Given the description of an element on the screen output the (x, y) to click on. 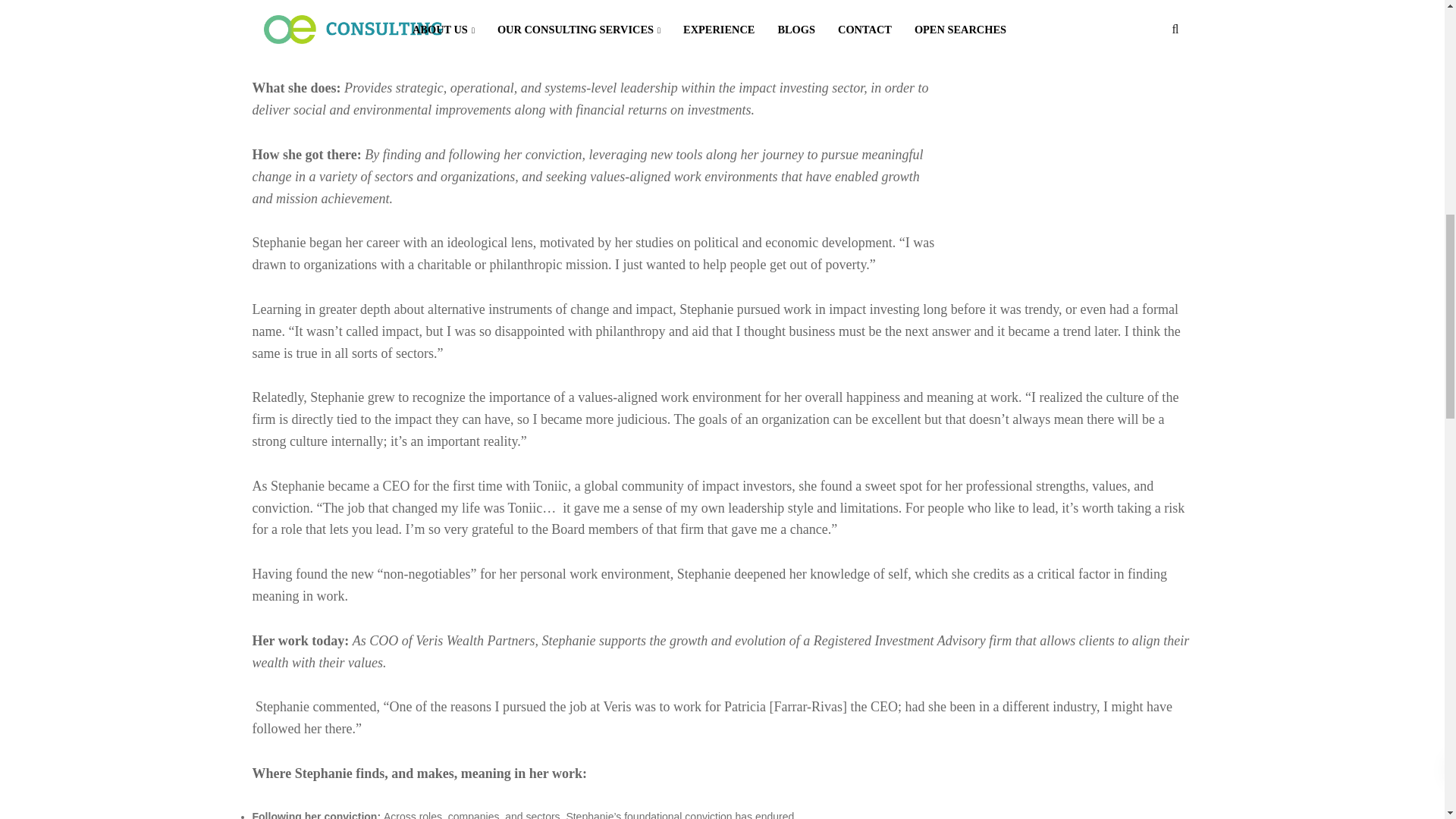
Stephanie Cohn Rupp (665, 7)
